Given the description of an element on the screen output the (x, y) to click on. 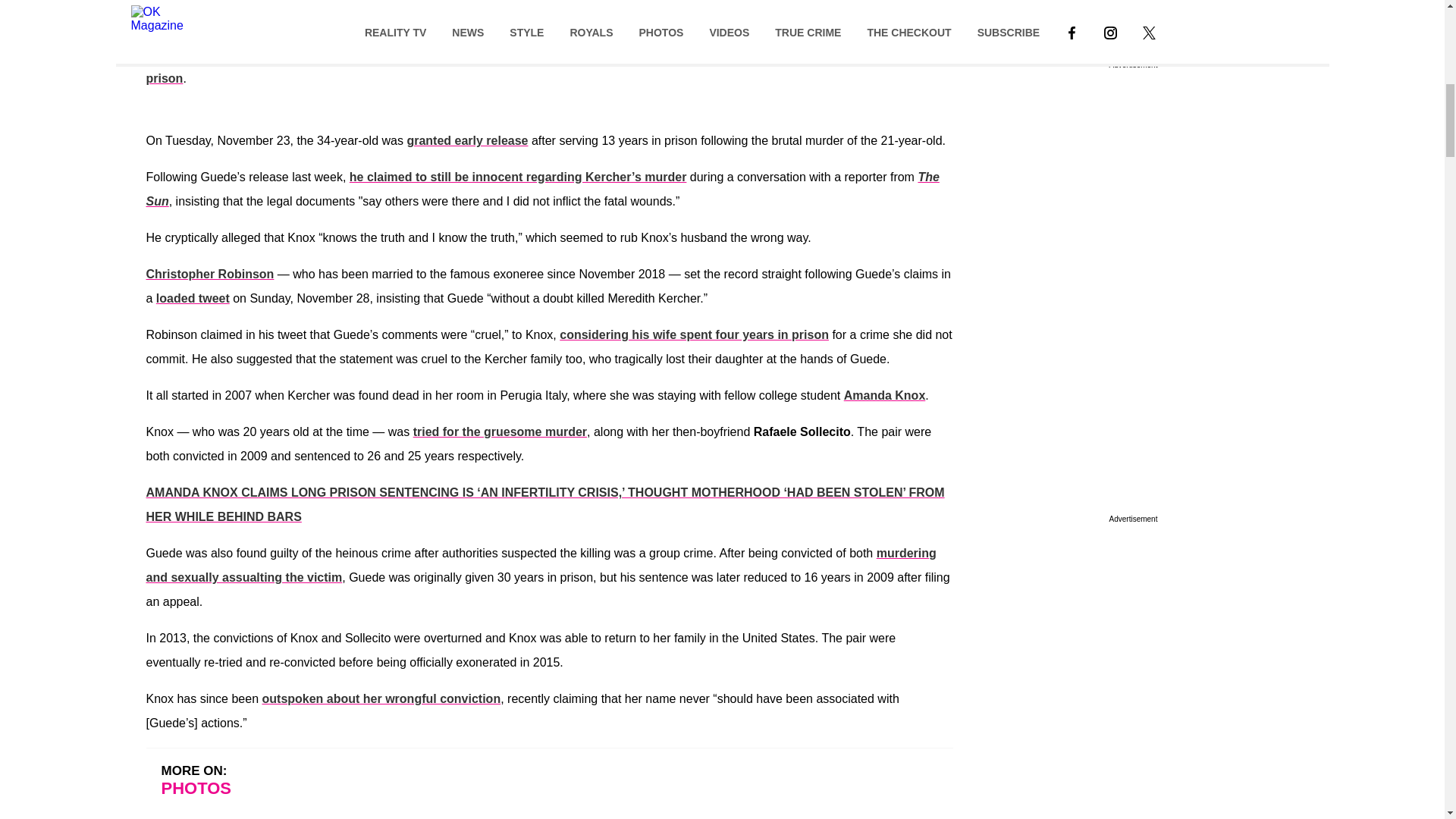
The Sun (542, 189)
Christopher Robinson (209, 273)
granted early release (466, 140)
loaded tweet (192, 297)
release from prison (542, 66)
